Given the description of an element on the screen output the (x, y) to click on. 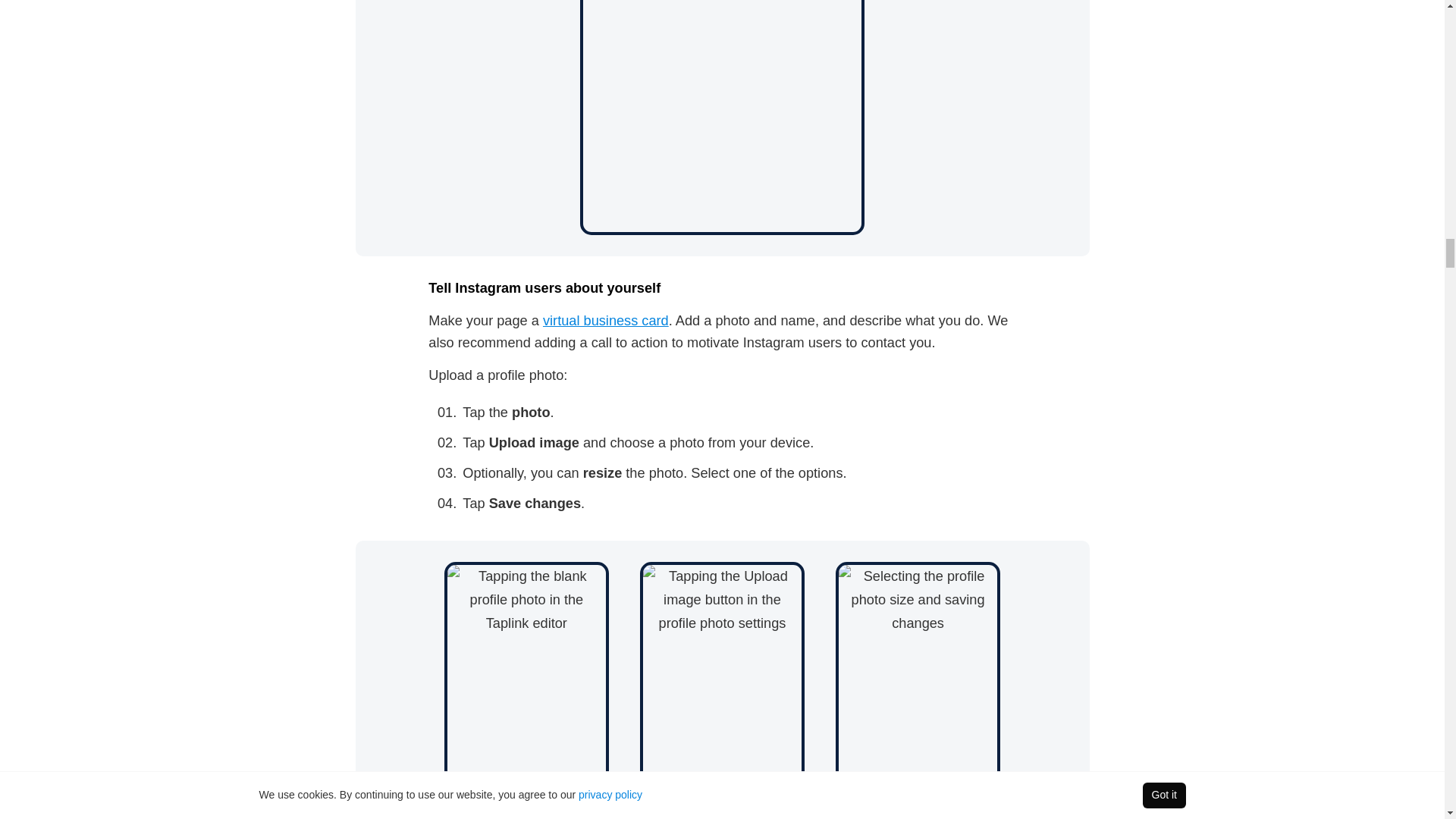
virtual business card (605, 320)
